Given the description of an element on the screen output the (x, y) to click on. 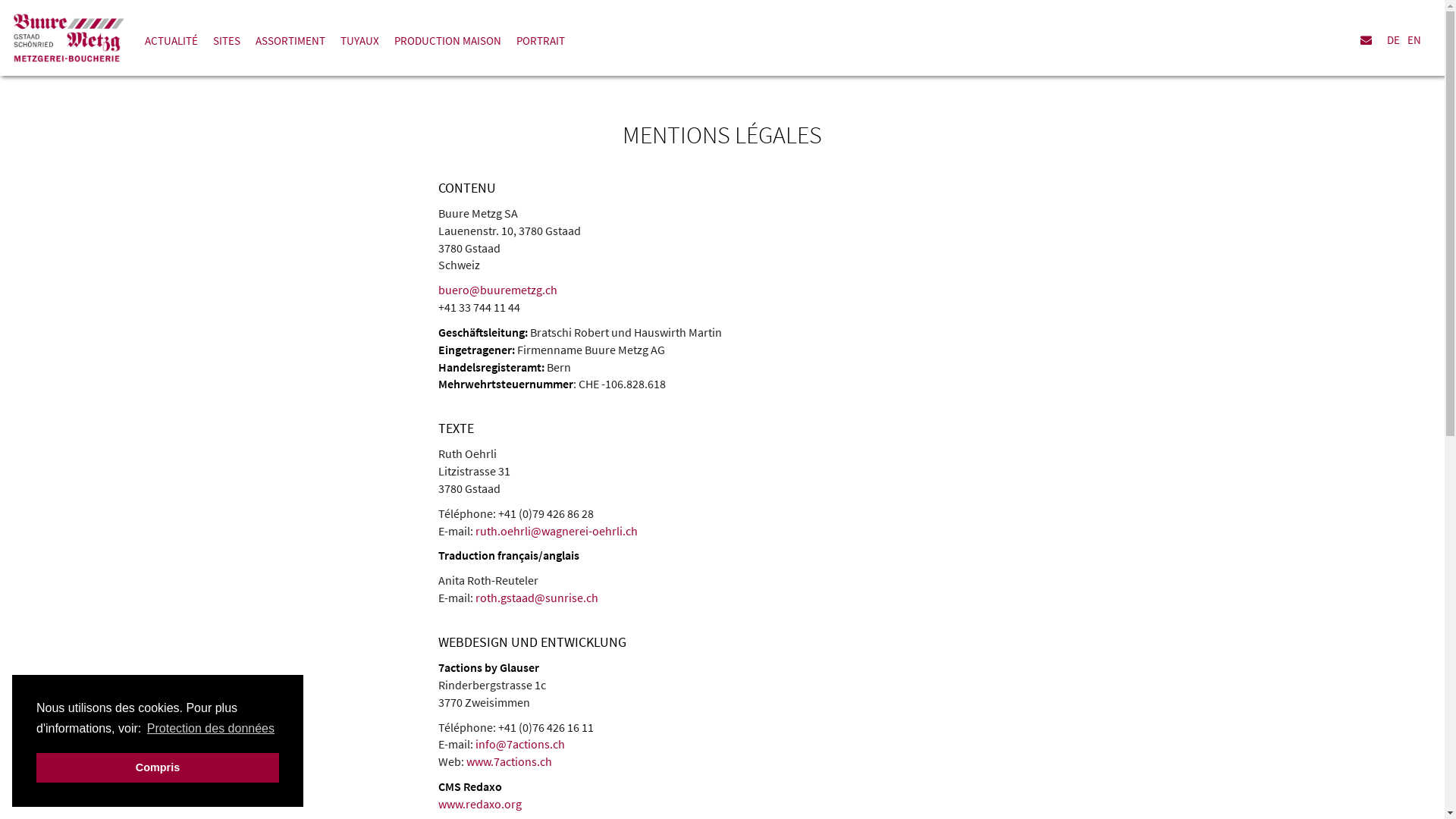
ASSORTIMENT Element type: text (290, 41)
TUYAUX Element type: text (359, 41)
www.redaxo.org Element type: text (479, 803)
info@7actions.ch Element type: text (519, 743)
ruth.oehrli@wagnerei-oehrli.ch Element type: text (555, 530)
buero@buuremetzg.ch Element type: text (497, 289)
PORTRAIT Element type: text (540, 41)
Compris Element type: text (157, 767)
SITES Element type: text (226, 41)
roth.gstaad@sunrise.ch Element type: text (535, 597)
PRODUCTION MAISON Element type: text (447, 41)
DE Element type: text (1396, 37)
www.7actions.ch Element type: text (508, 760)
EN Element type: text (1419, 37)
